Given the description of an element on the screen output the (x, y) to click on. 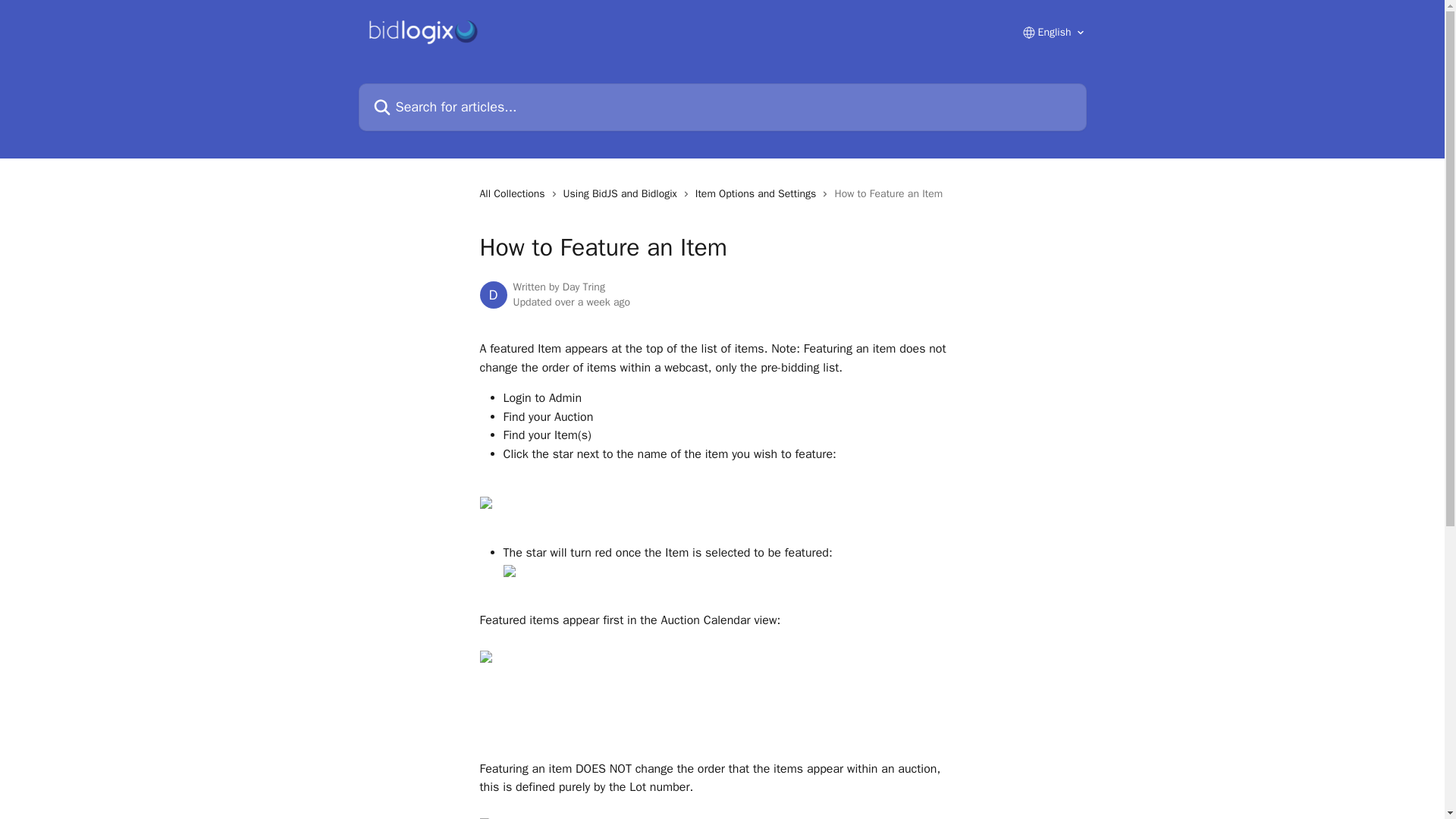
Item Options and Settings (758, 193)
Using BidJS and Bidlogix (622, 193)
All Collections (514, 193)
